Given the description of an element on the screen output the (x, y) to click on. 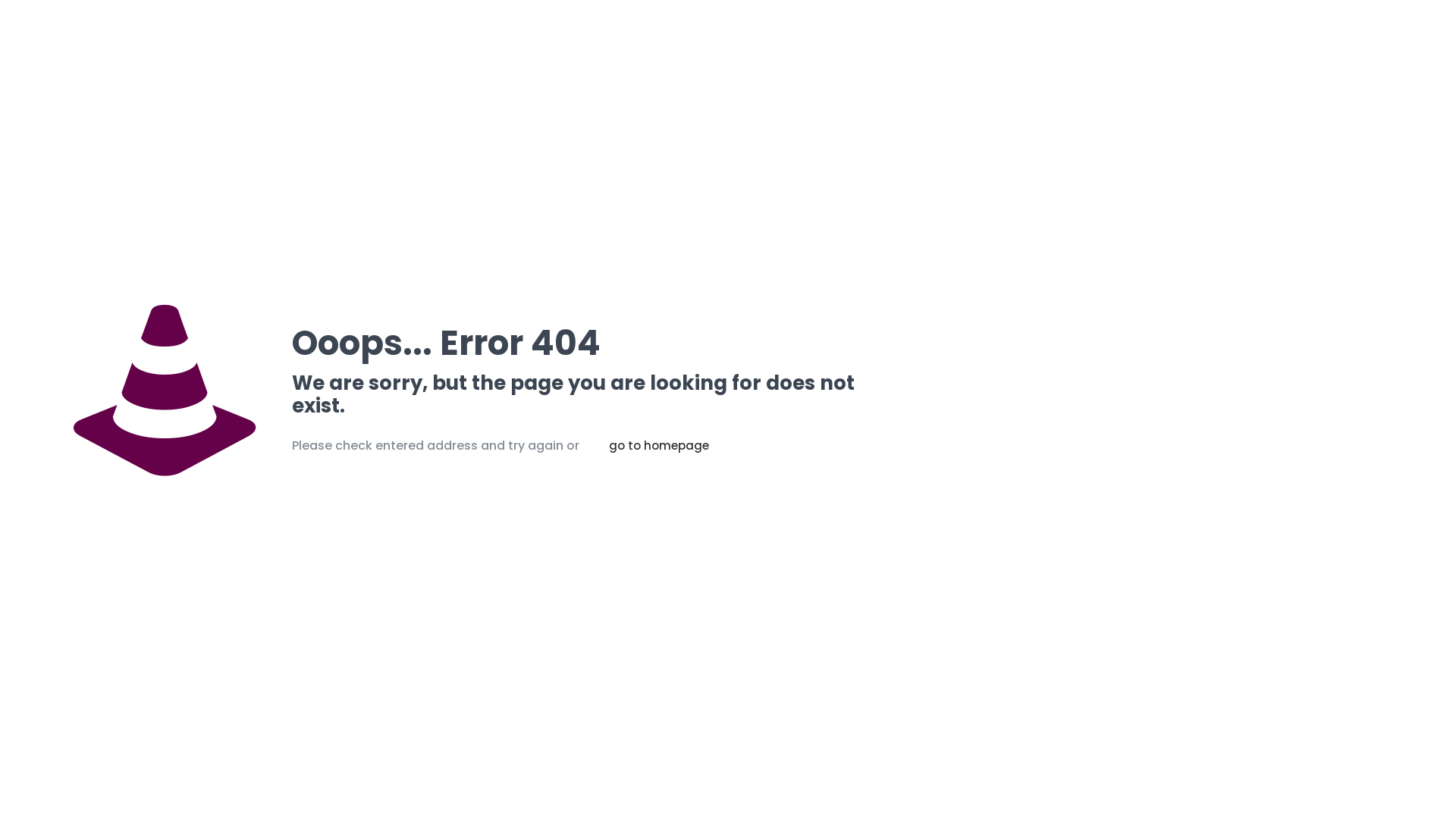
go to homepage Element type: text (658, 445)
